Given the description of an element on the screen output the (x, y) to click on. 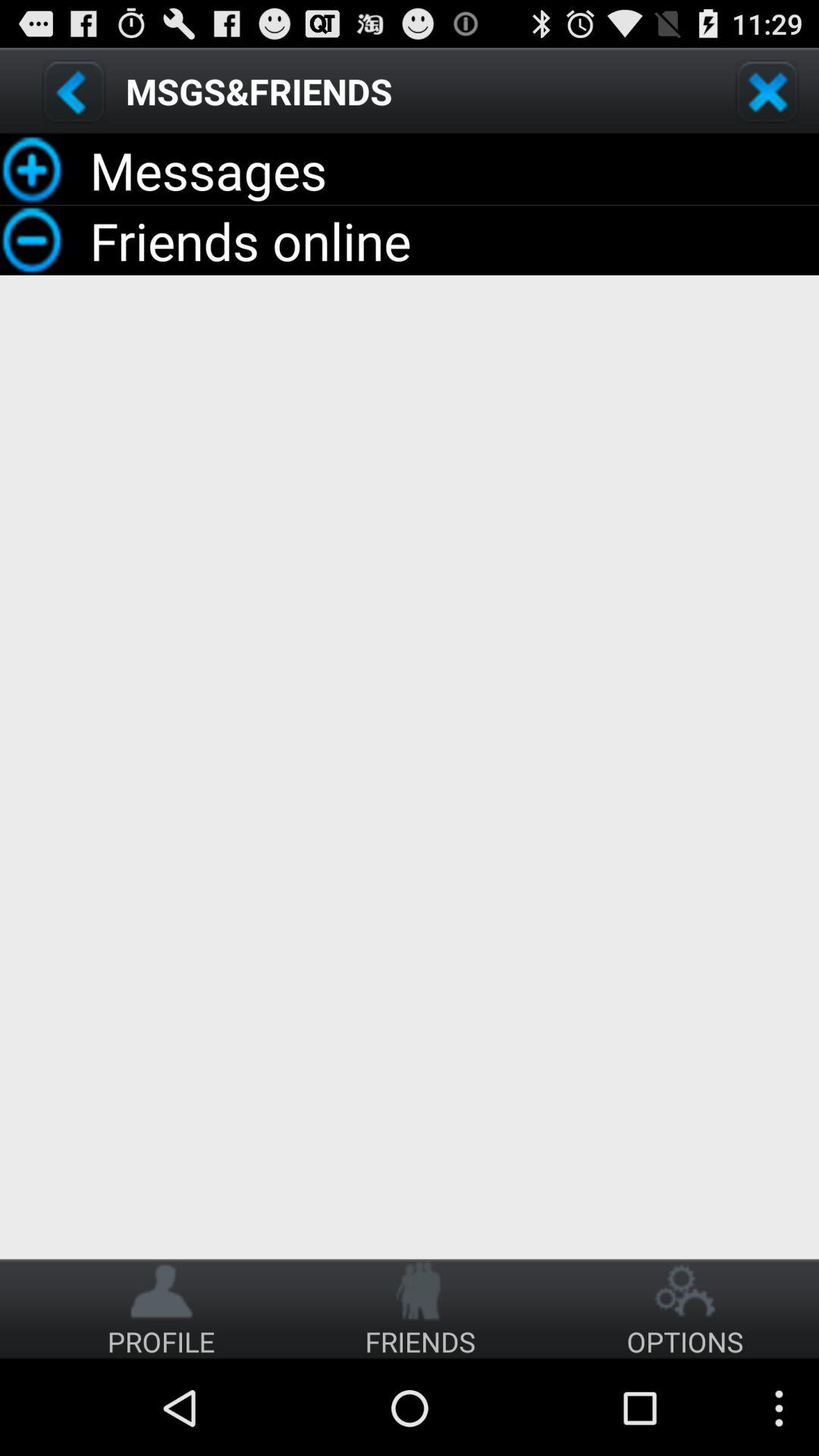
back option (73, 91)
